Given the description of an element on the screen output the (x, y) to click on. 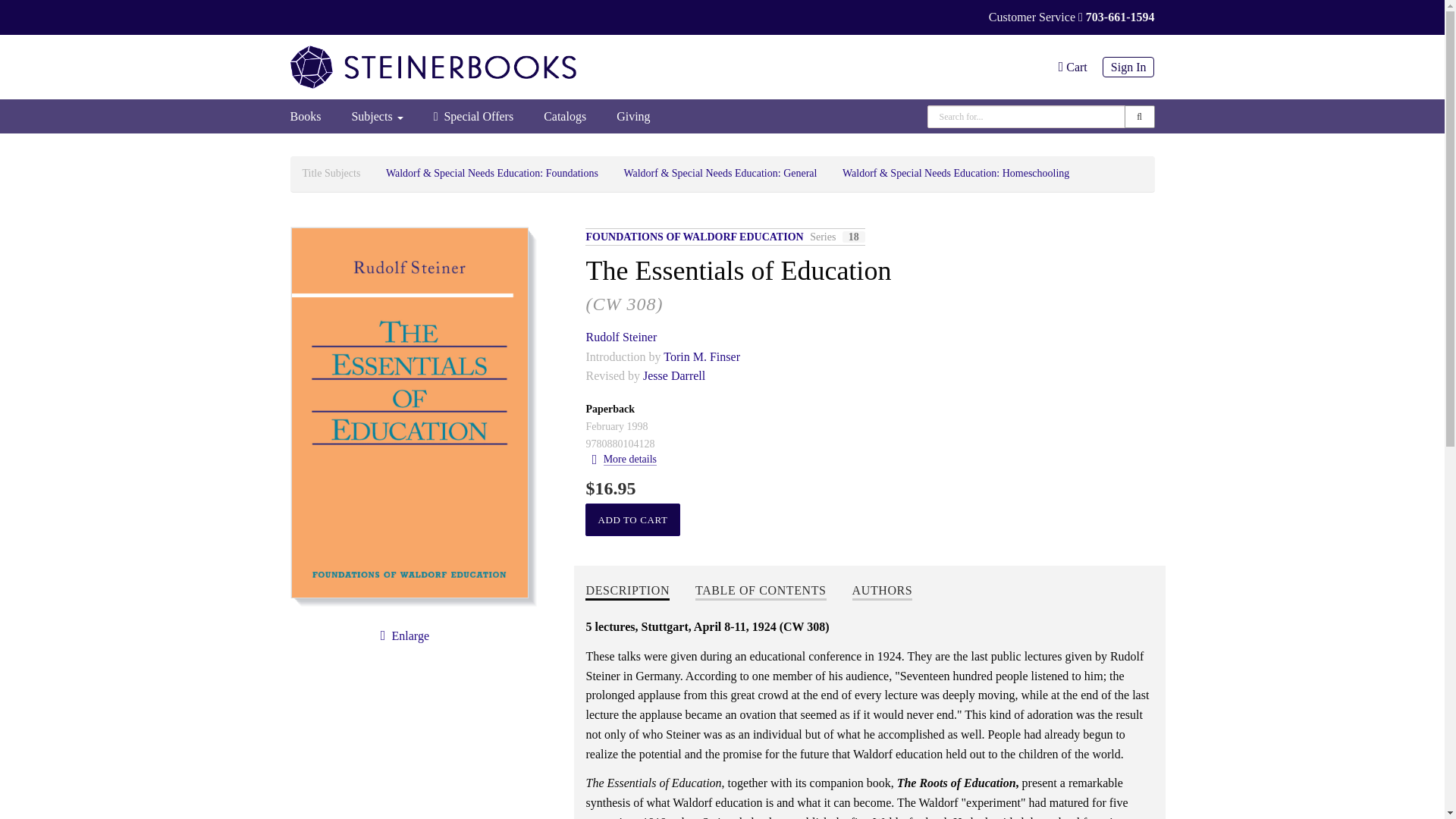
  Special Offers (474, 116)
Giving (633, 116)
Jesse Darrell (673, 375)
Sign In (1120, 67)
Torin M. Finser (701, 356)
Rudolf Steiner (620, 336)
Catalogs (564, 116)
Books (312, 116)
FOUNDATIONS OF WALDORF EDUCATION (695, 236)
Series Number (853, 236)
Enlarge (401, 635)
Subjects (376, 116)
